Given the description of an element on the screen output the (x, y) to click on. 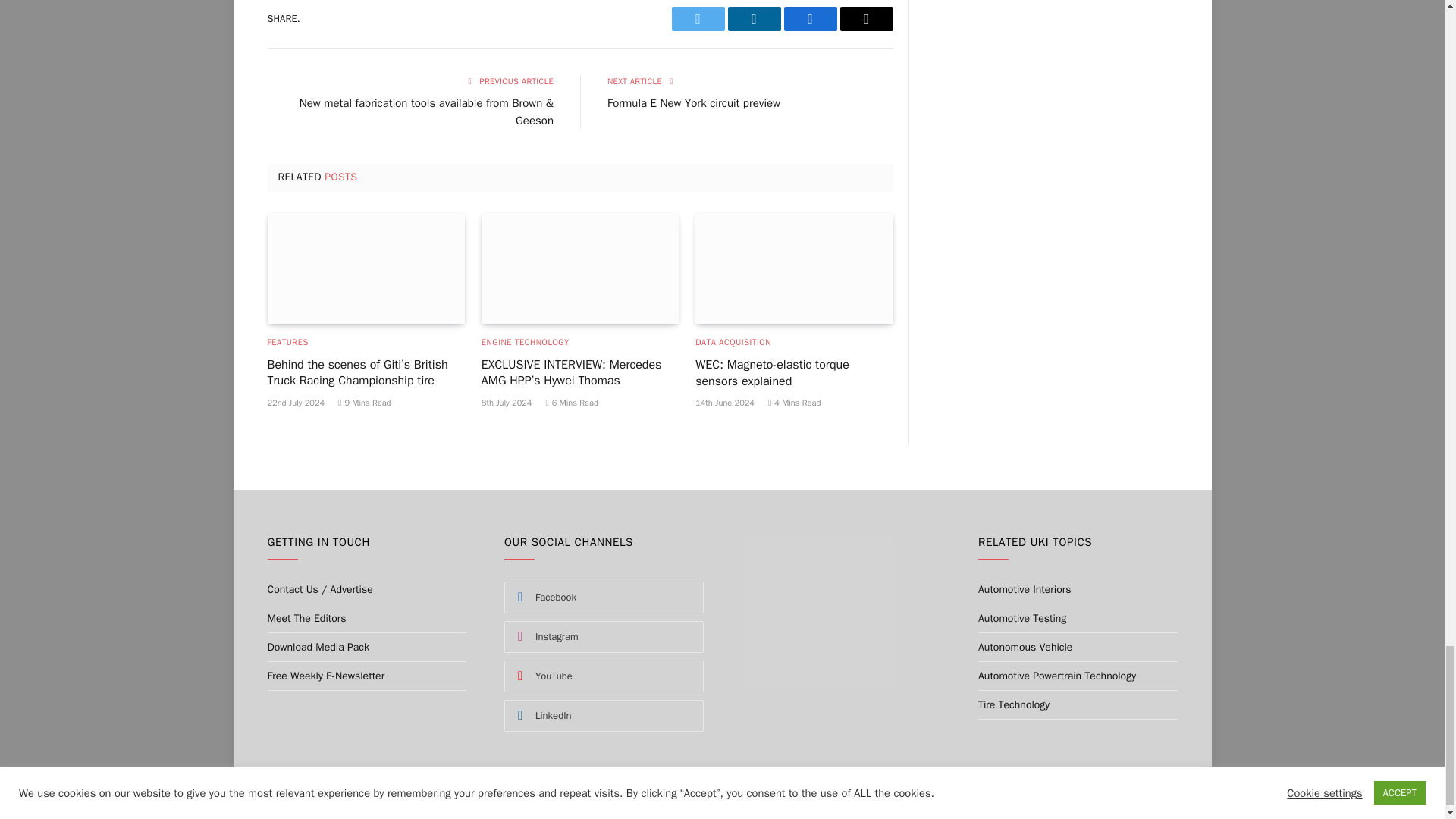
Share on Facebook (810, 18)
Share on Twitter (698, 18)
Share on LinkedIn (754, 18)
